Given the description of an element on the screen output the (x, y) to click on. 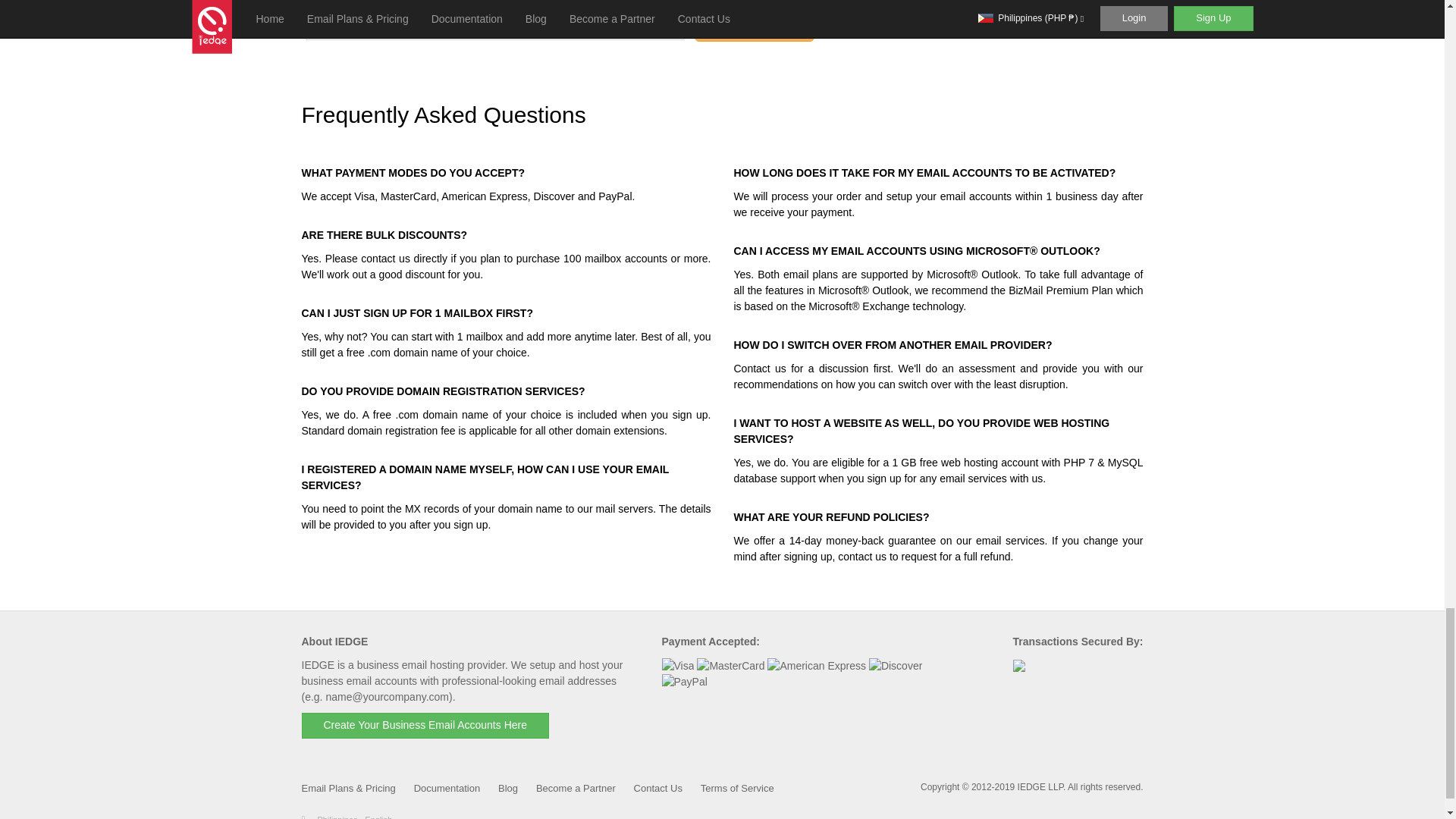
Discover (895, 666)
Search Domain (753, 23)
Blog (507, 787)
Search Domain (753, 23)
Create Your Business Email Accounts Here (424, 725)
Terms of Service (737, 787)
Search Domain (753, 23)
American Express (816, 666)
Contact Us (657, 787)
MasterCard (730, 666)
Become a Partner (575, 787)
PayPal (683, 682)
Visa (677, 666)
Documentation (446, 787)
